Given the description of an element on the screen output the (x, y) to click on. 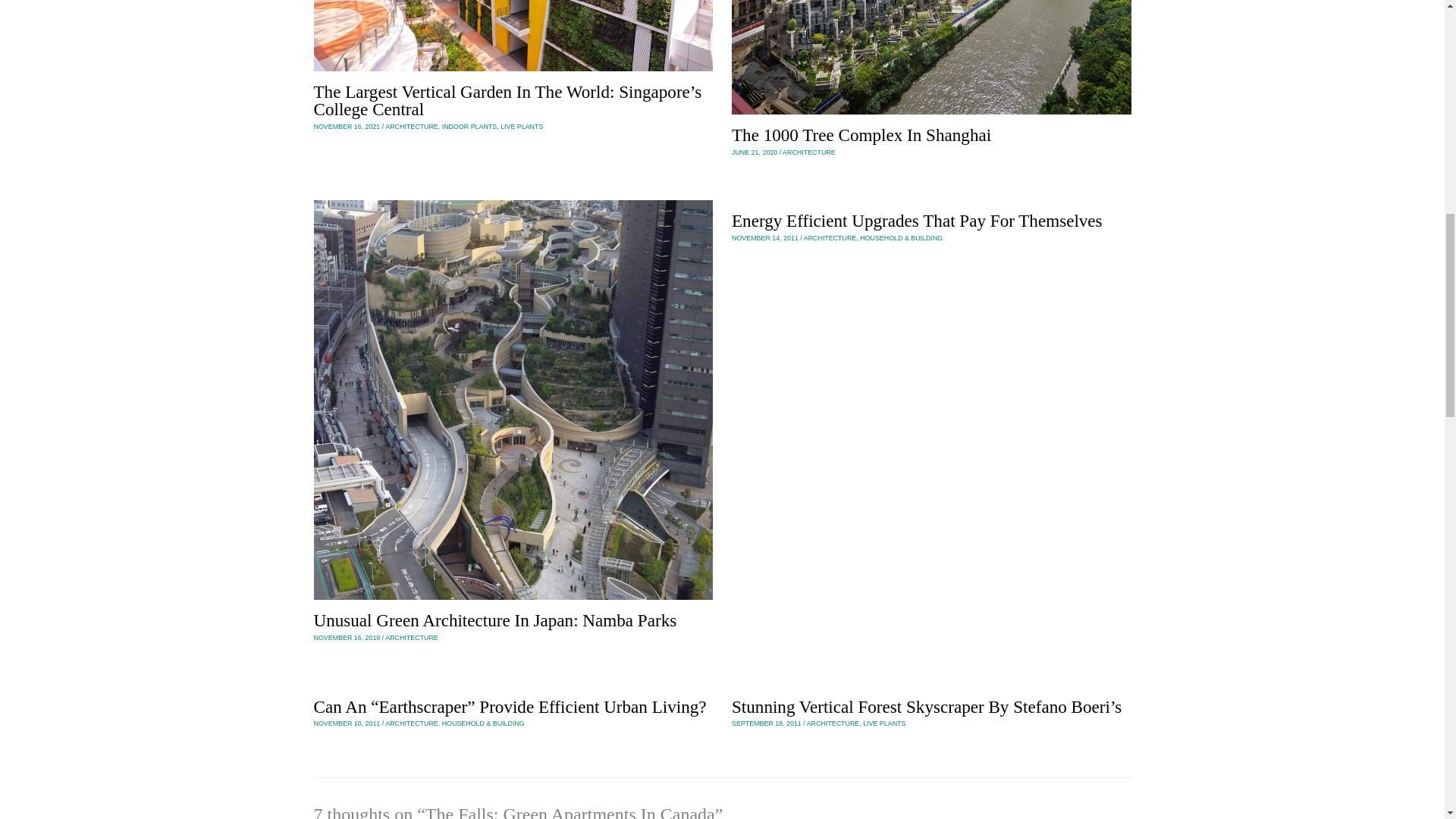
INDOOR PLANTS (469, 126)
ARCHITECTURE (411, 723)
The 1000 Tree Complex In Shanghai (861, 134)
ARCHITECTURE (830, 237)
LIVE PLANTS (521, 126)
ARCHITECTURE (411, 637)
Unusual Green Architecture In Japan: Namba Parks (495, 619)
Energy Efficient Upgrades That Pay For Themselves (917, 220)
ARCHITECTURE (411, 126)
ARCHITECTURE (809, 152)
